Given the description of an element on the screen output the (x, y) to click on. 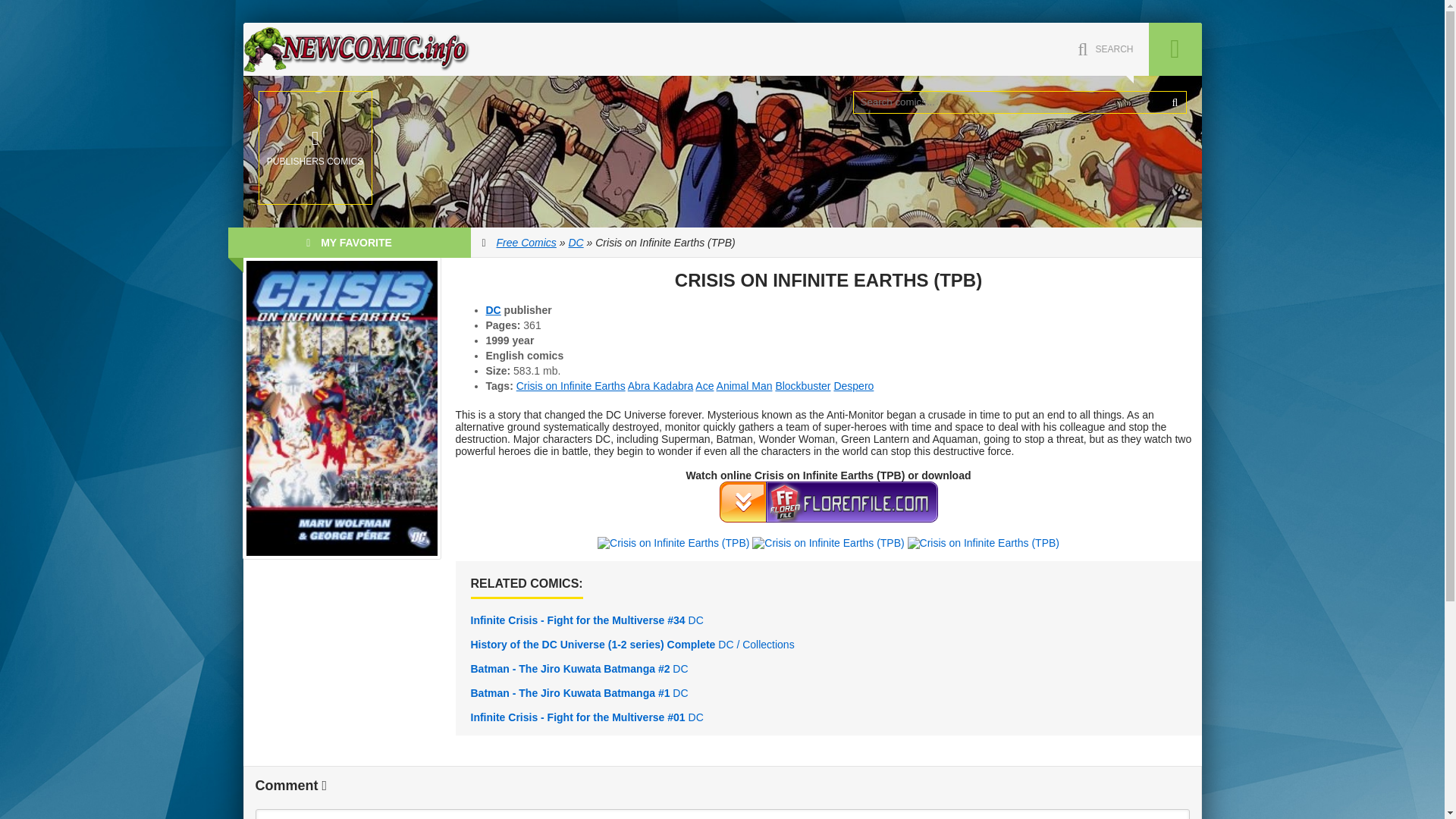
Blockbuster (801, 386)
Ace (704, 386)
Abra Kadabra (660, 386)
Search (1174, 101)
DC (492, 309)
New comics (356, 49)
Animal Man (744, 386)
Free Comics (526, 242)
Crisis on Infinite Earths (571, 386)
Comics, Download free comics (356, 49)
MY FAVORITE (348, 242)
DC (575, 242)
Despero (852, 386)
